Given the description of an element on the screen output the (x, y) to click on. 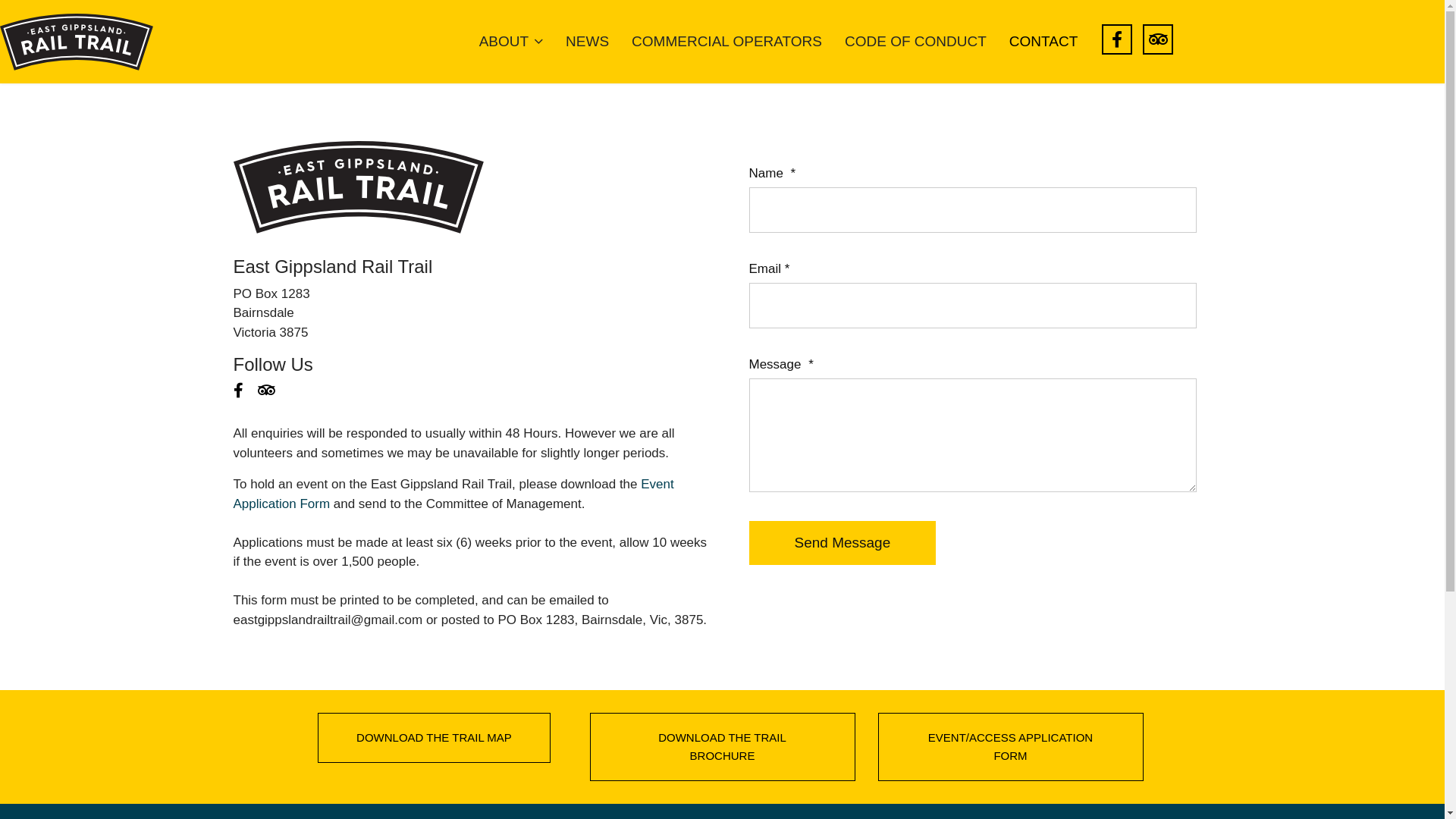
ABOUT Element type: text (510, 41)
DOWNLOAD THE TRAIL MAP Element type: text (433, 737)
CODE OF CONDUCT Element type: text (915, 41)
CONTACT Element type: text (1042, 41)
DOWNLOAD THE TRAIL BROCHURE Element type: text (722, 746)
Event Application Form Element type: text (453, 493)
EVENT/ACCESS APPLICATION FORM Element type: text (1010, 746)
NEWS Element type: text (587, 41)
Send Message Element type: text (842, 542)
COMMERCIAL OPERATORS Element type: text (726, 41)
